Given the description of an element on the screen output the (x, y) to click on. 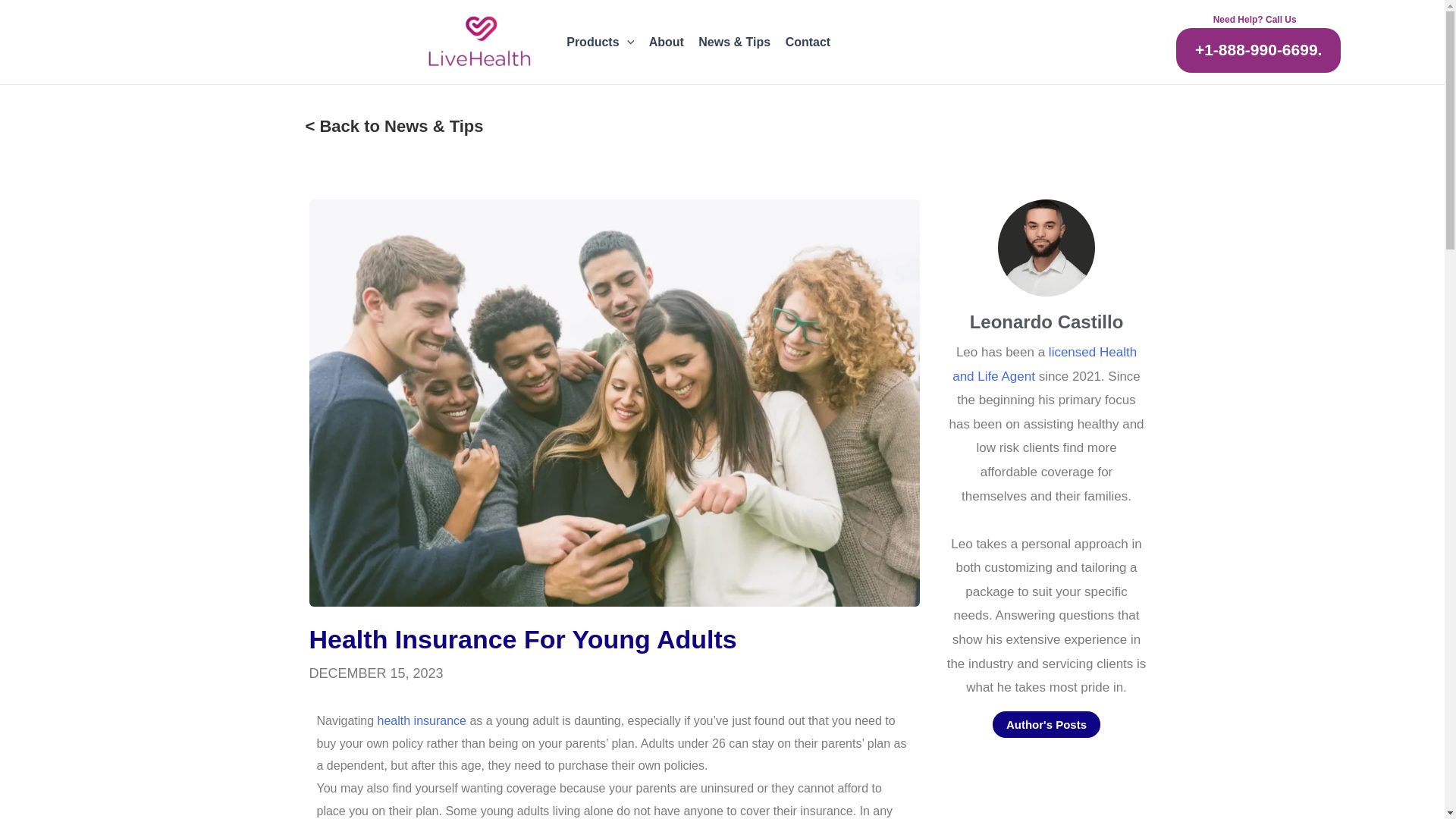
Products (600, 41)
About (666, 41)
Contact (808, 41)
